Given the description of an element on the screen output the (x, y) to click on. 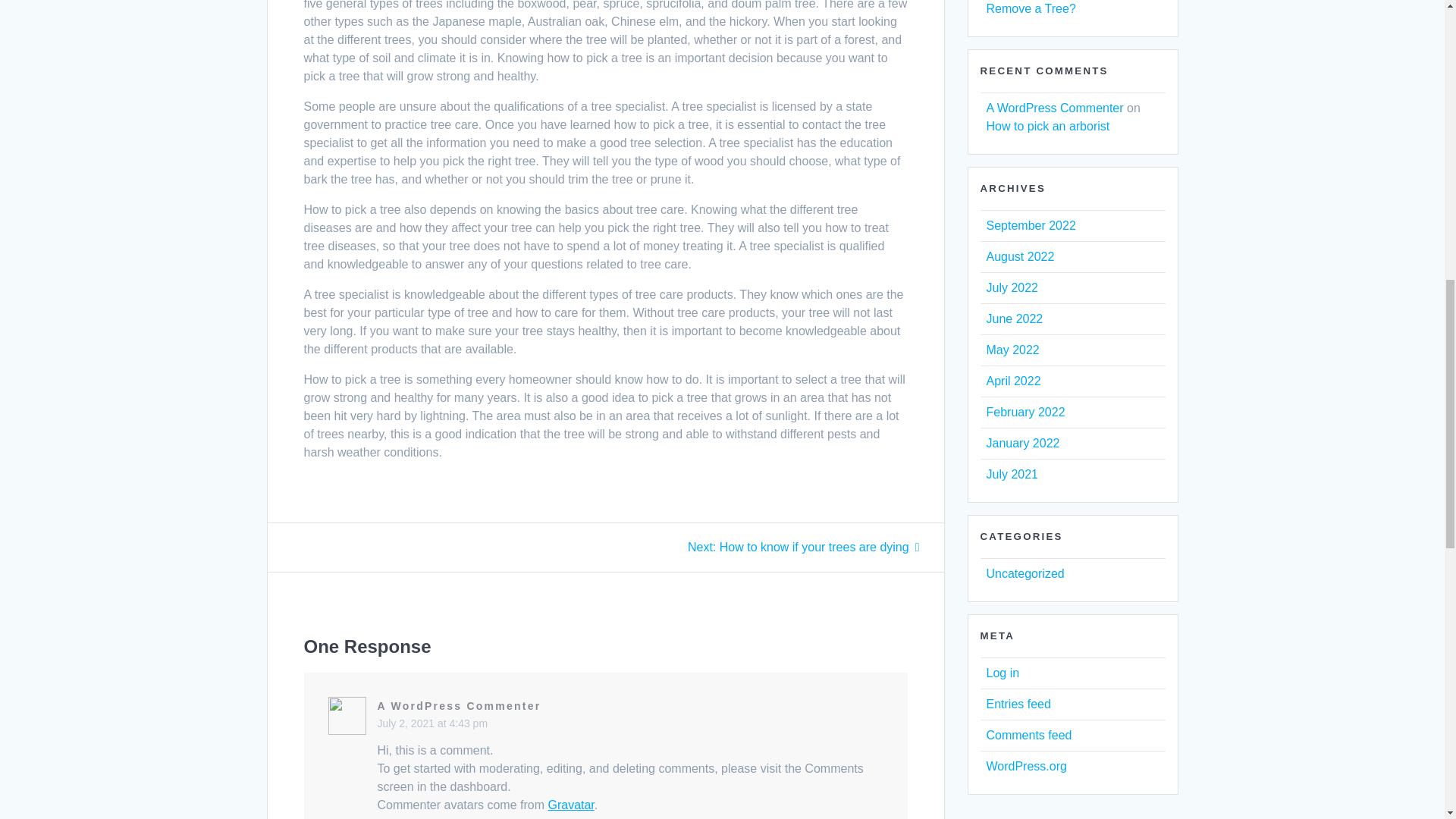
How Much Does it Cost to Remove a Tree? (1055, 7)
A WordPress Commenter (459, 705)
May 2022 (1012, 349)
Comments feed (1028, 735)
Uncategorized (1024, 573)
July 2022 (1011, 287)
June 2022 (1013, 318)
April 2022 (803, 546)
Gravatar (1013, 380)
July 2021 (570, 804)
Log in (1011, 473)
August 2022 (1002, 672)
January 2022 (1019, 256)
How to pick an arborist (1022, 442)
